Given the description of an element on the screen output the (x, y) to click on. 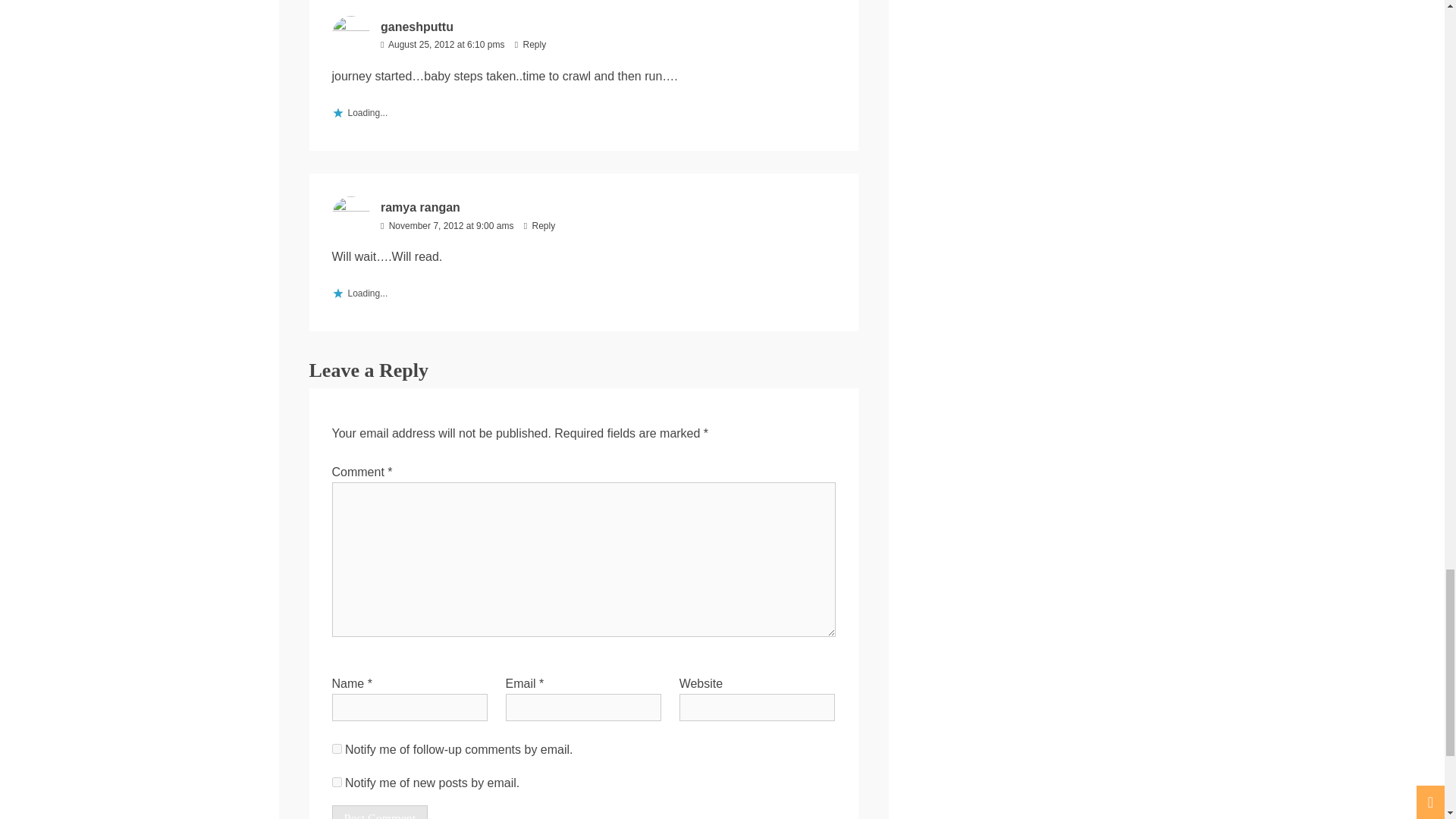
Post Comment (379, 812)
subscribe (336, 748)
subscribe (336, 782)
